Given the description of an element on the screen output the (x, y) to click on. 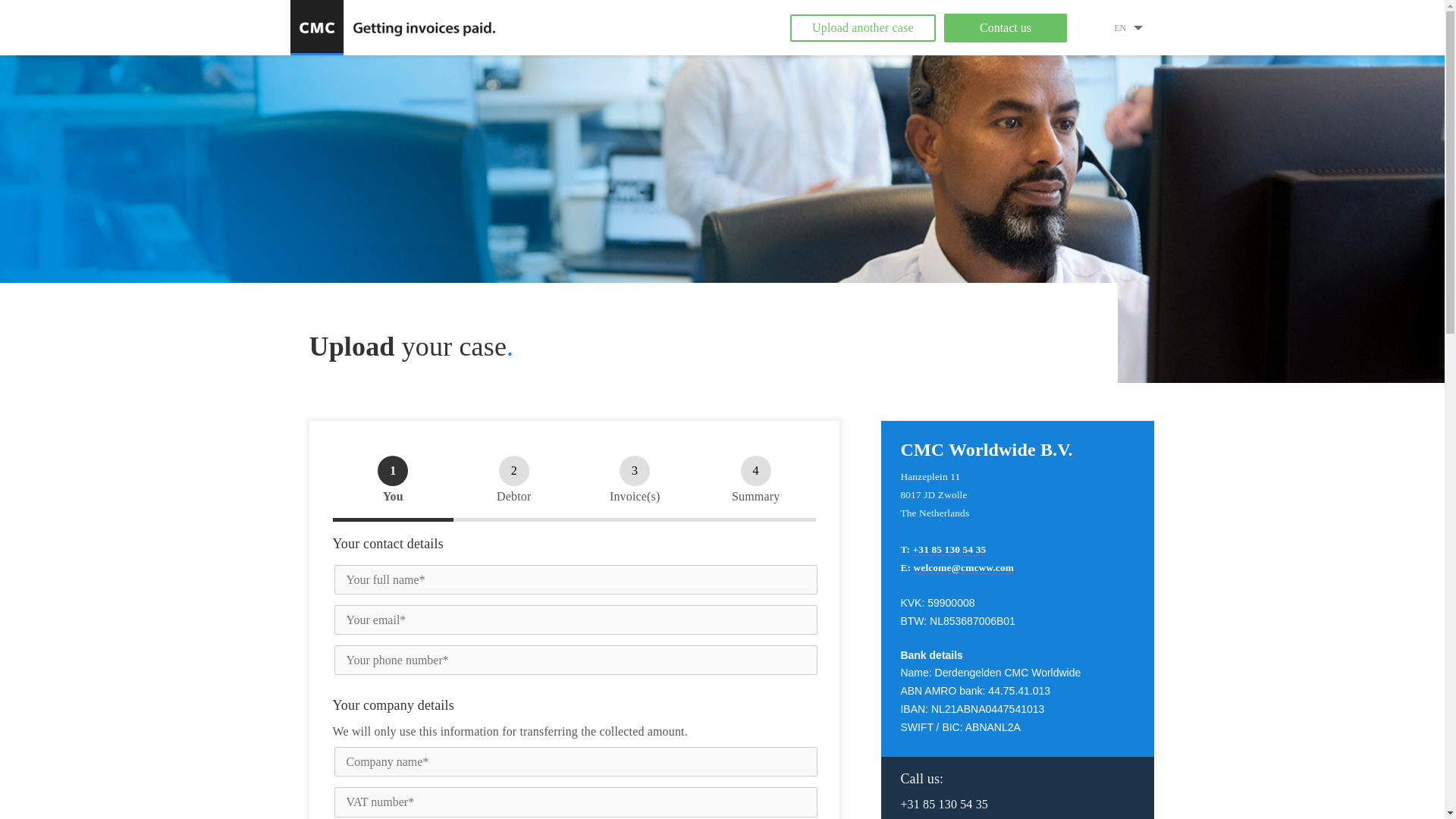
Contact us (1005, 27)
Upload my case (284, 15)
Logo CMC payoff (394, 27)
Upload another case (862, 27)
